Given the description of an element on the screen output the (x, y) to click on. 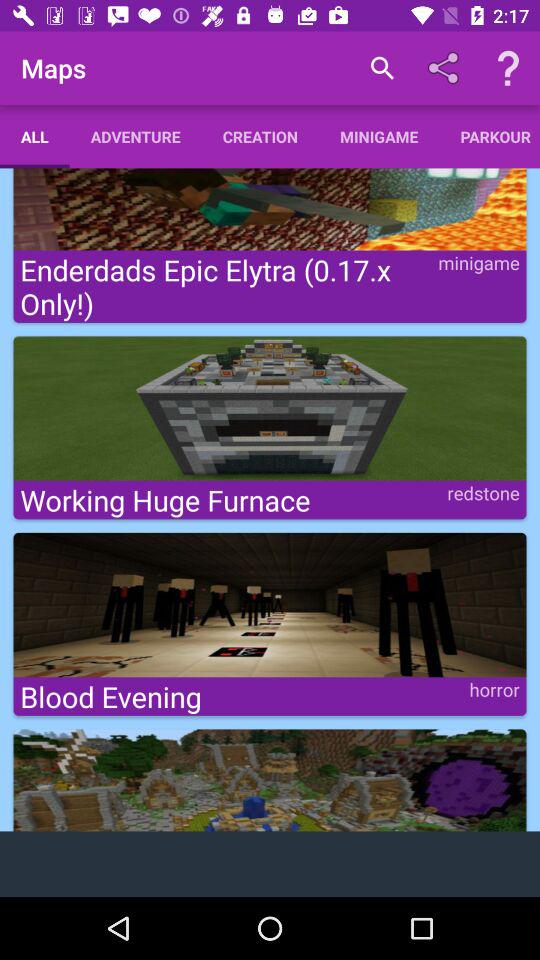
tap icon below maps item (34, 136)
